Given the description of an element on the screen output the (x, y) to click on. 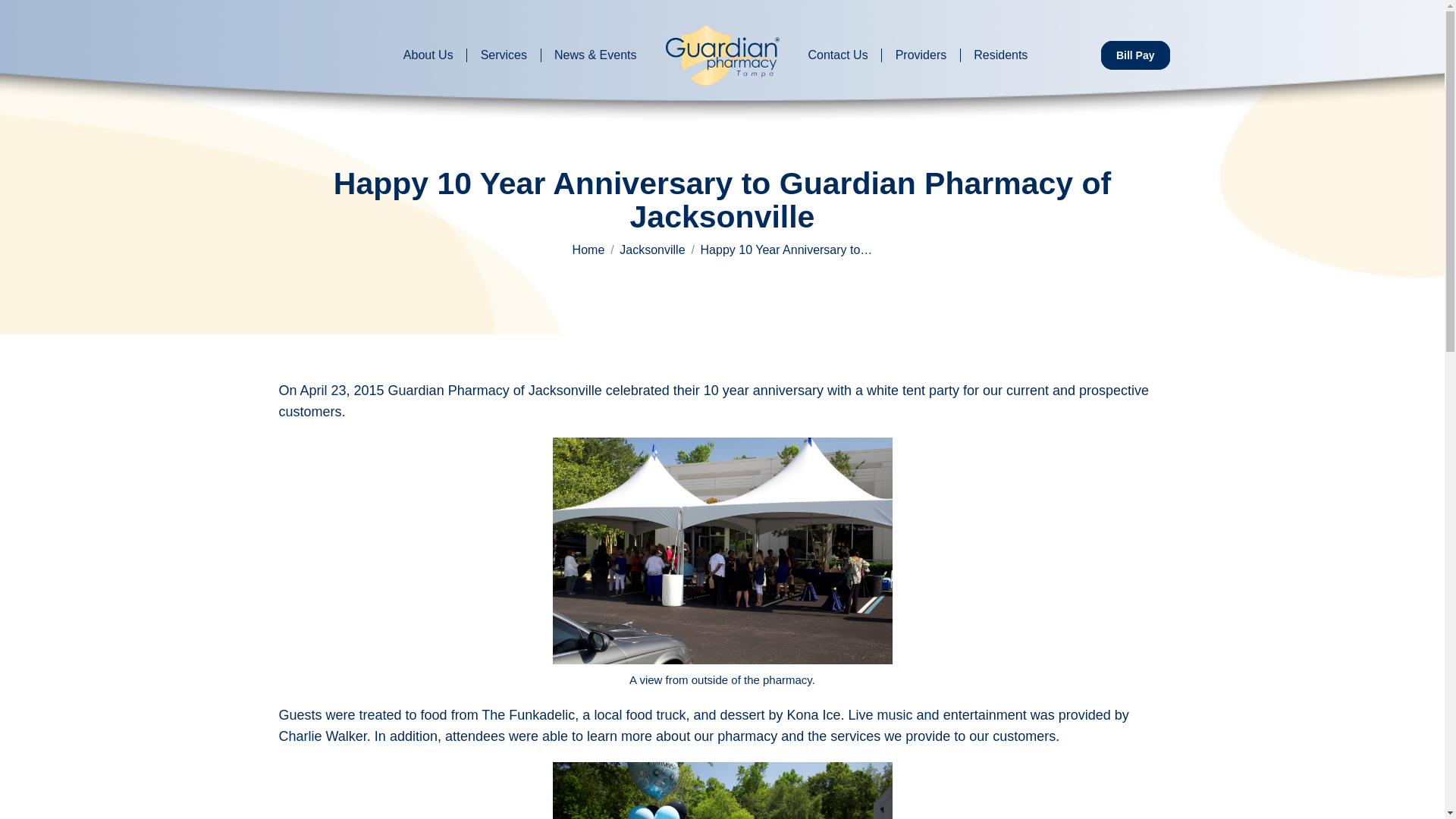
About Us (428, 54)
Residents (1000, 54)
Contact Us (837, 54)
Providers (921, 54)
Bill Pay (1135, 54)
Home (588, 249)
Jacksonville (652, 249)
Services (503, 54)
